Given the description of an element on the screen output the (x, y) to click on. 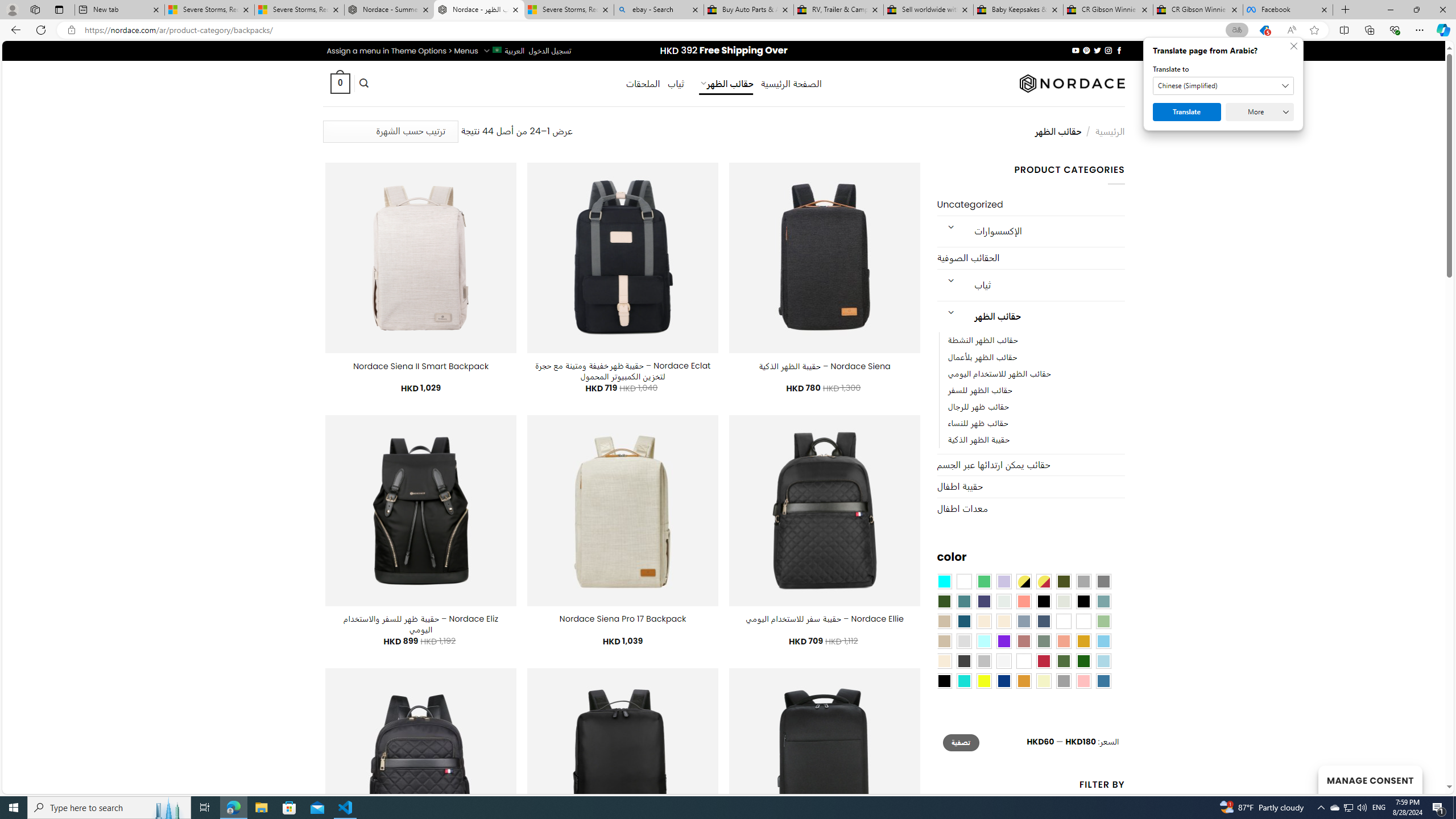
Assign a menu in Theme Options > Menus (402, 50)
Purple (1003, 640)
Light Green (1103, 621)
Translate to (1223, 85)
Sage (1043, 640)
Hale Navy (1043, 621)
